Given the description of an element on the screen output the (x, y) to click on. 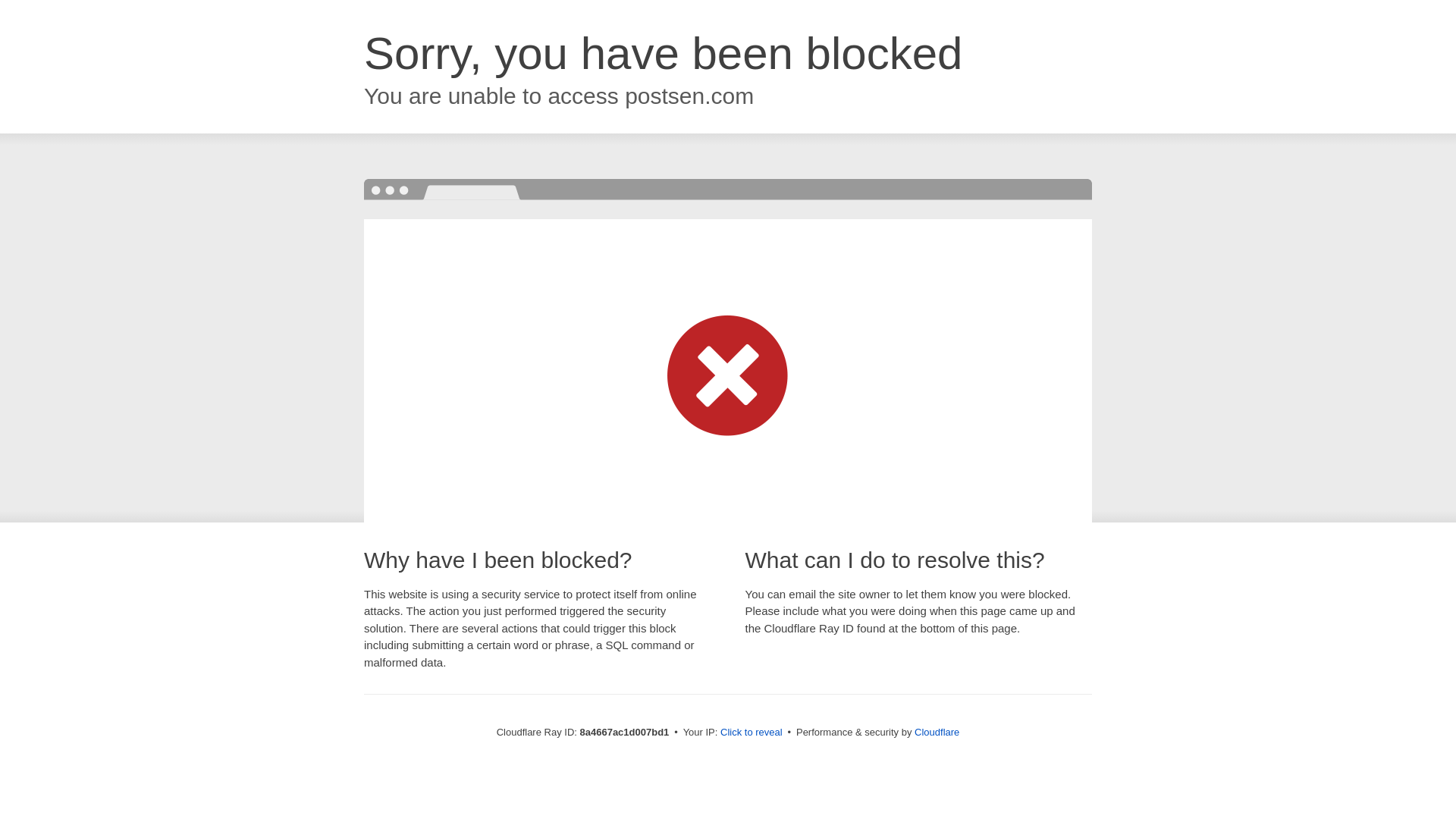
Click to reveal (751, 732)
Cloudflare (936, 731)
